Given the description of an element on the screen output the (x, y) to click on. 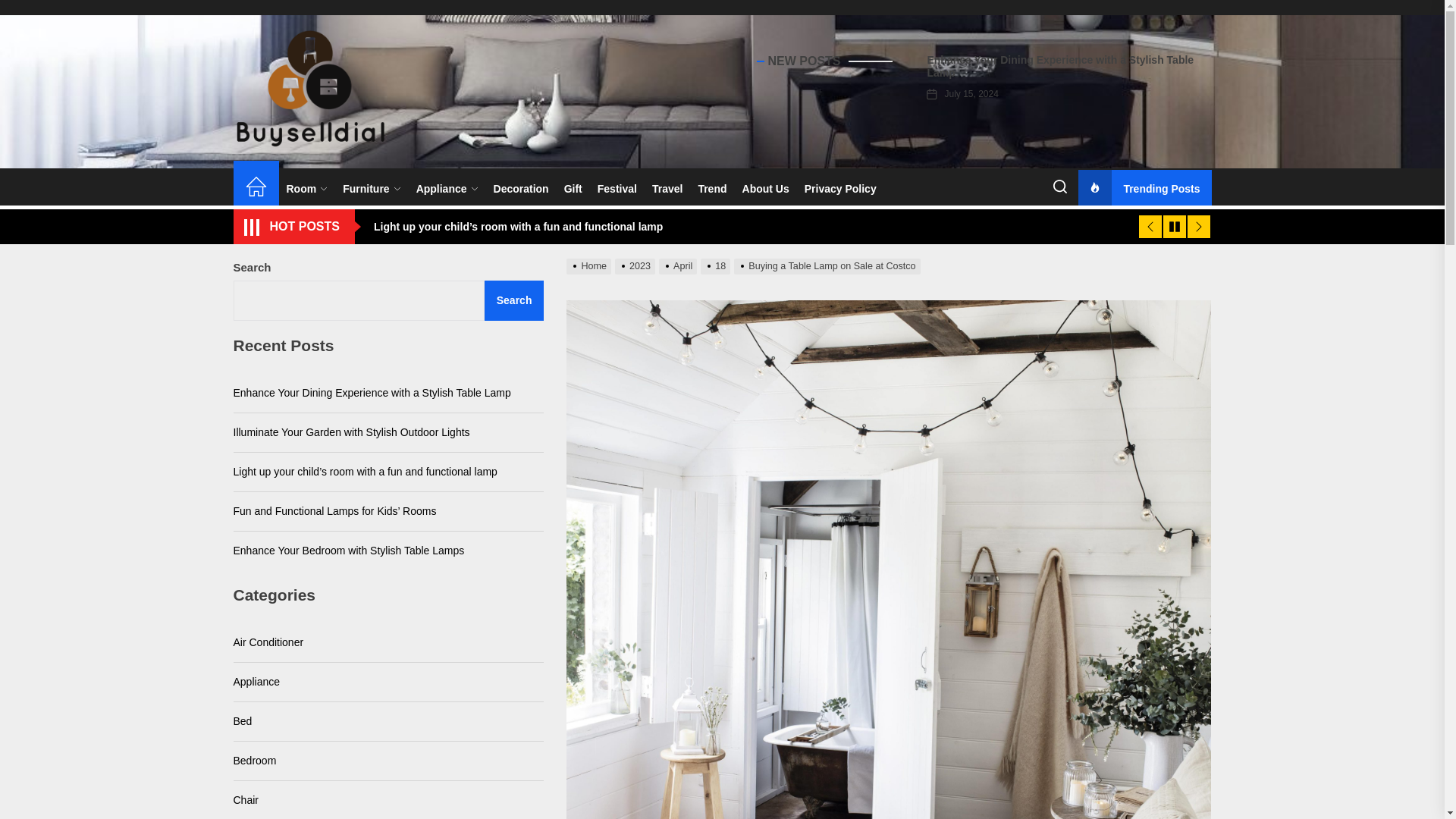
Buyselldial (328, 178)
Appliance (447, 188)
Furniture (370, 188)
Enhance Your Dining Experience with a Stylish Table Lamp (1059, 66)
Decoration (521, 188)
Room (307, 188)
Enhance Your Dining Experience with a Stylish Table Lamp (1059, 66)
July 15, 2024 (970, 93)
Home (255, 188)
